Given the description of an element on the screen output the (x, y) to click on. 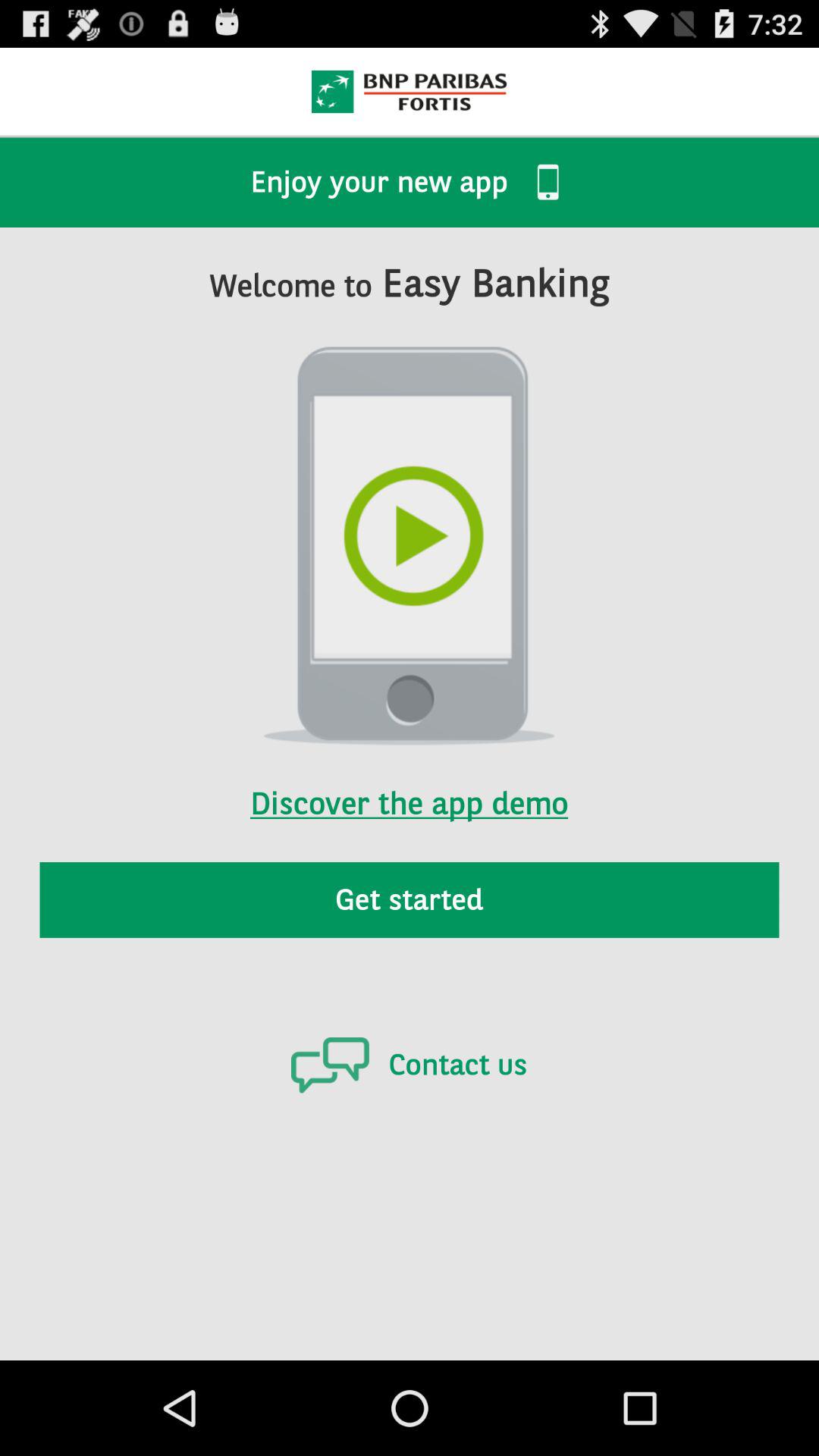
select discover the app (409, 783)
